Given the description of an element on the screen output the (x, y) to click on. 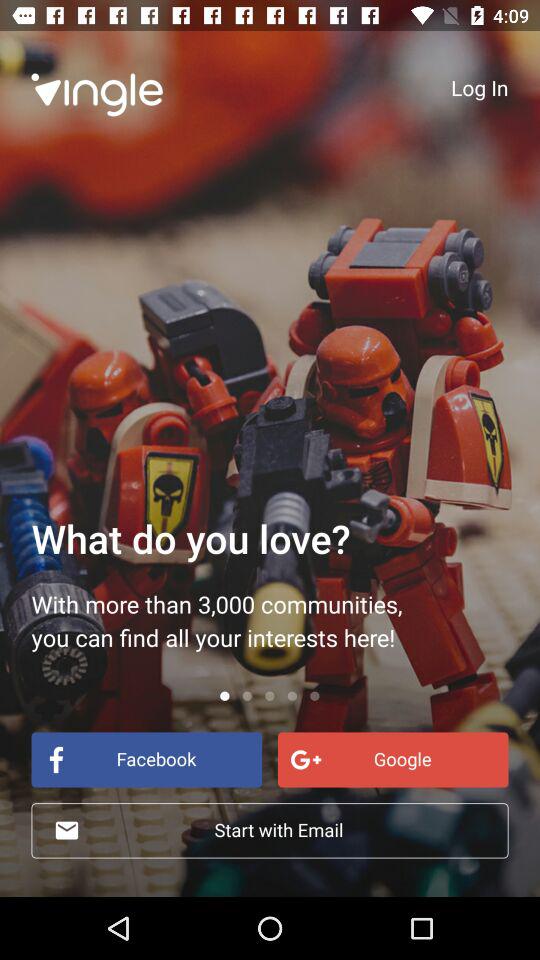
select the log in icon (479, 87)
